Given the description of an element on the screen output the (x, y) to click on. 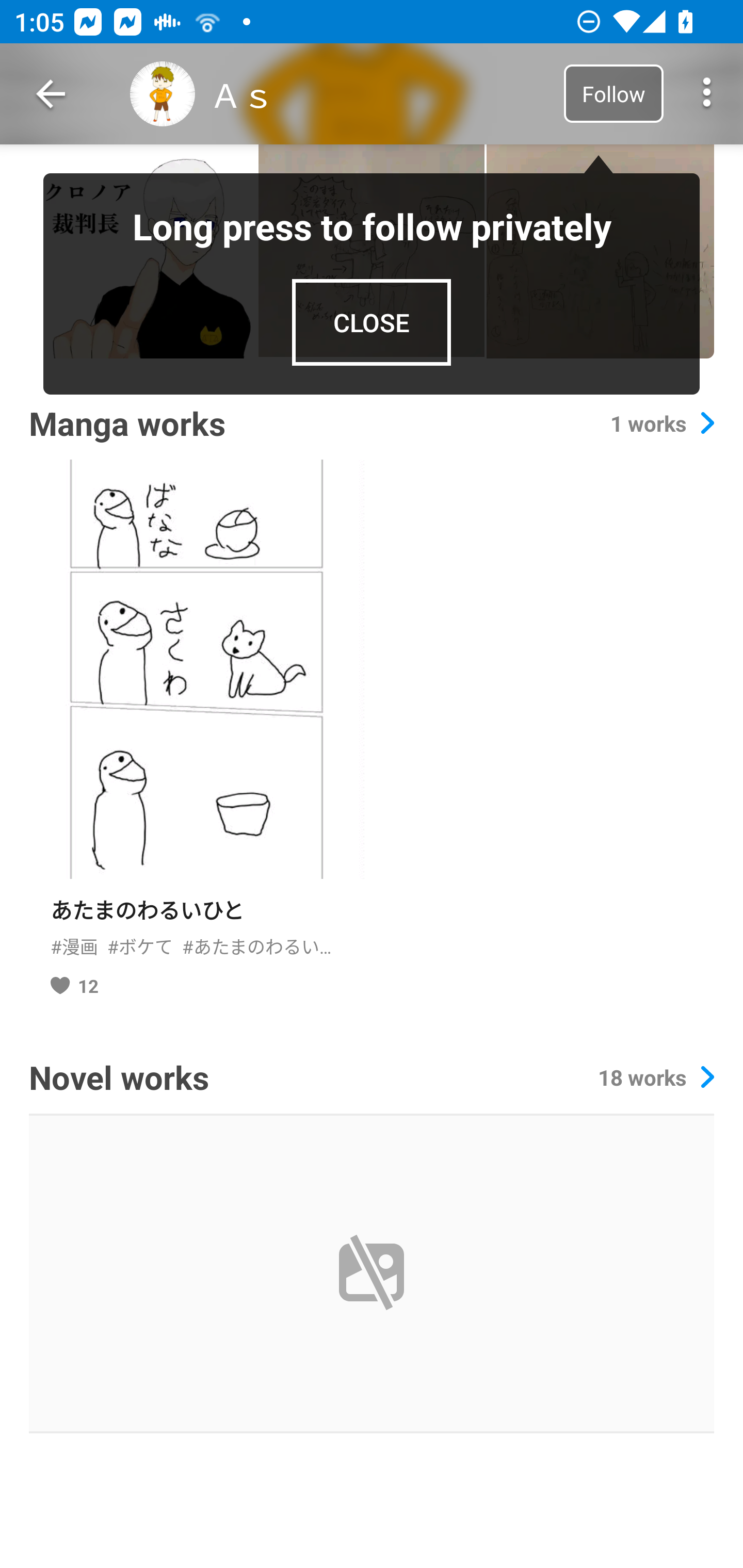
Navigate up (50, 93)
More options (706, 93)
Follow (613, 93)
CLOSE (371, 322)
1 works (662, 423)
あたまのわるいひと #漫画  #ボケて  #あたまのわるいひと  #成仏  #ボツ案 12 (196, 735)
18 works (656, 1077)
